Given the description of an element on the screen output the (x, y) to click on. 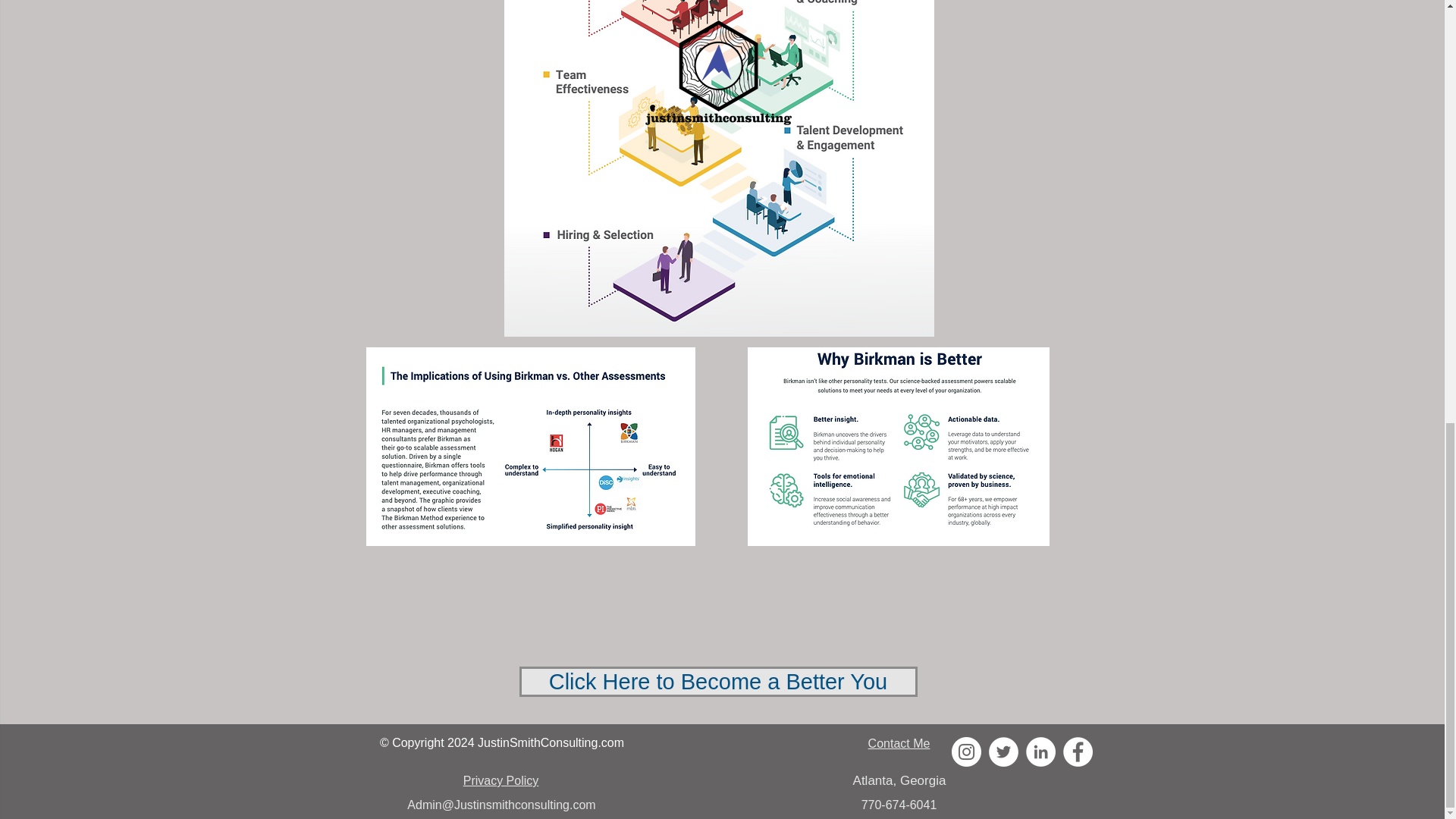
Click Here to Become a Better You (717, 681)
Contact Me (898, 743)
Privacy Policy (500, 780)
